Given the description of an element on the screen output the (x, y) to click on. 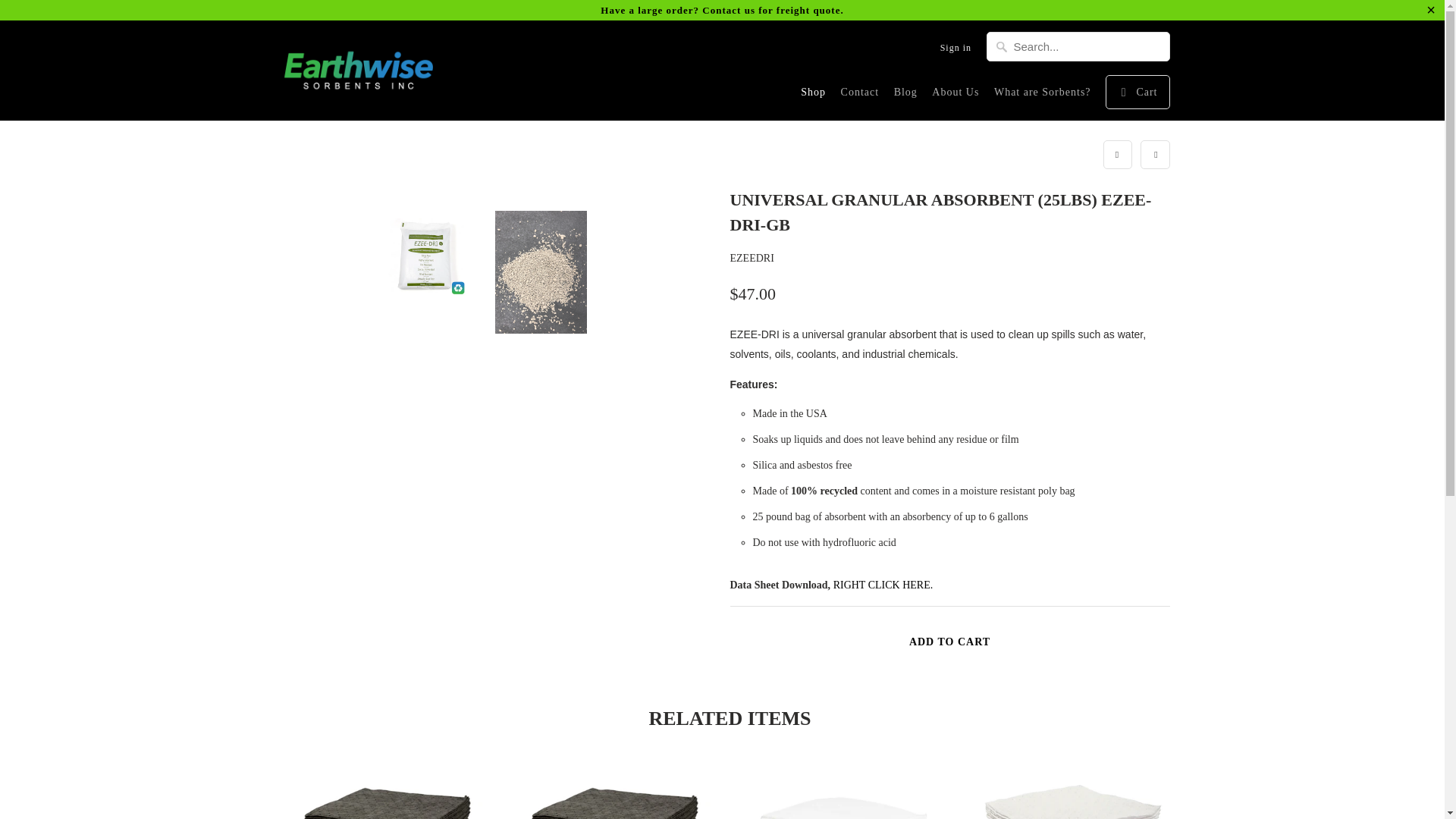
RIGHT CLICK HERE. (882, 584)
Sign in (955, 51)
Shop (812, 96)
What are Sorbents? (1042, 96)
Download Data Sheet (882, 584)
About Us (954, 96)
Contact (860, 96)
Cart (1137, 91)
Cart (1137, 91)
ADD TO CART (949, 641)
Blog (905, 96)
